Given the description of an element on the screen output the (x, y) to click on. 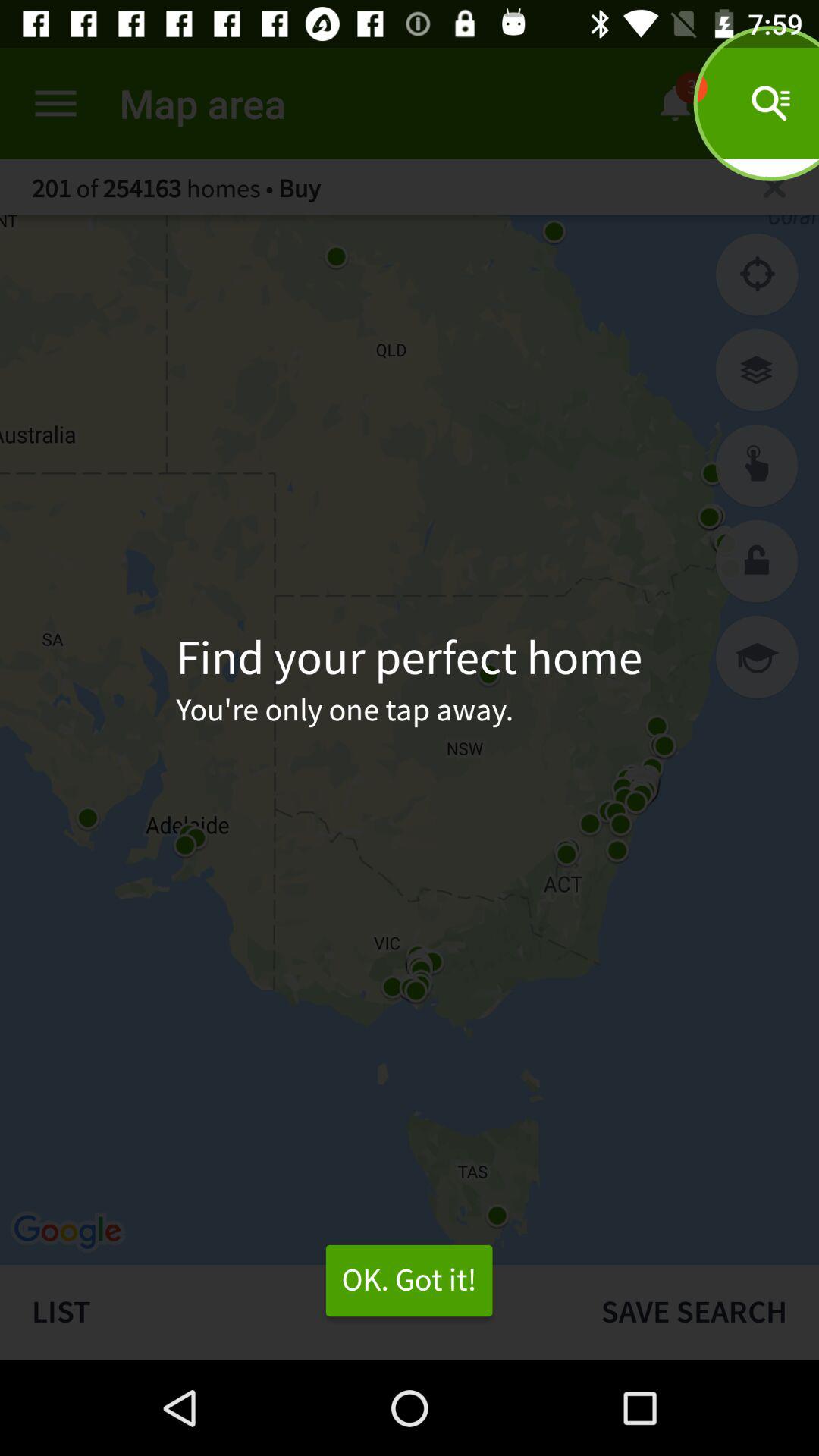
lock the directions (756, 561)
